Given the description of an element on the screen output the (x, y) to click on. 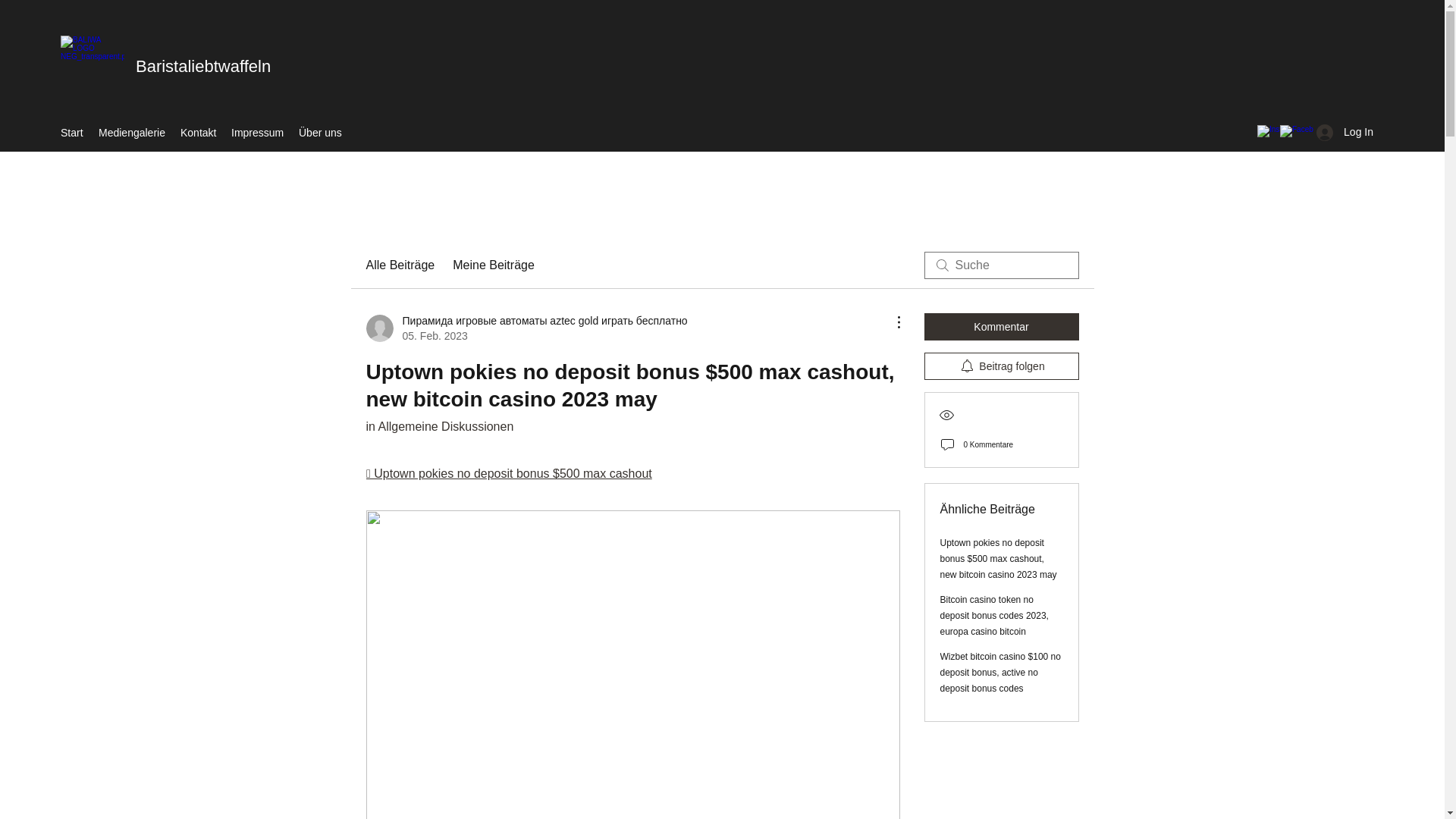
Kommentar (1000, 326)
Log In (1345, 131)
Impressum (257, 132)
Baristaliebtwaffeln (202, 66)
Start (71, 132)
in Allgemeine Diskussionen (439, 426)
Kontakt (198, 132)
Beitrag folgen (1000, 366)
Mediengalerie (131, 132)
